Given the description of an element on the screen output the (x, y) to click on. 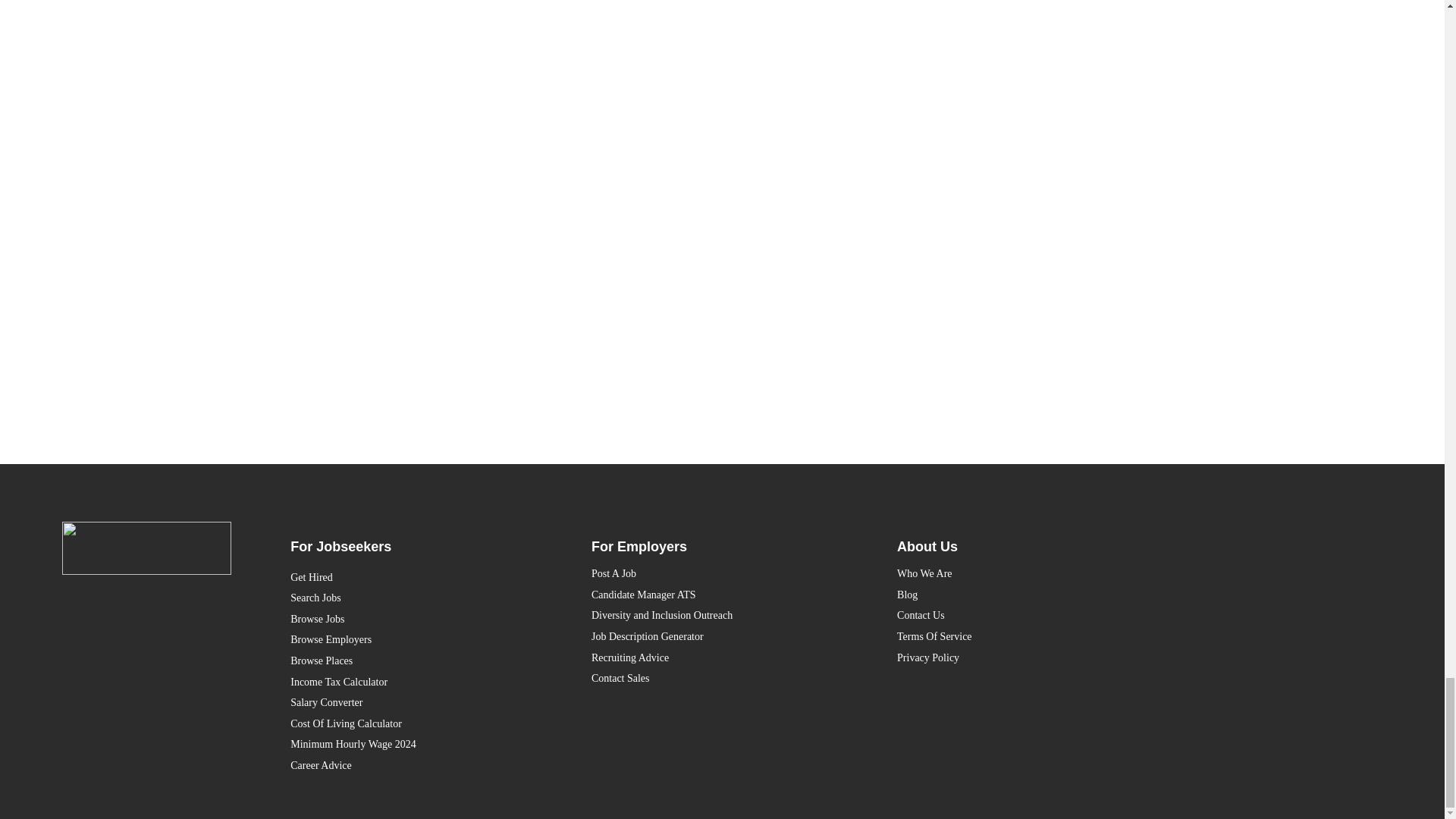
Get Hired (410, 577)
Browse Places (410, 660)
Income Tax Calculator (410, 681)
Browse Jobs (410, 619)
Browse Employers (410, 639)
Search Jobs (410, 598)
Salary Converter (410, 702)
